Given the description of an element on the screen output the (x, y) to click on. 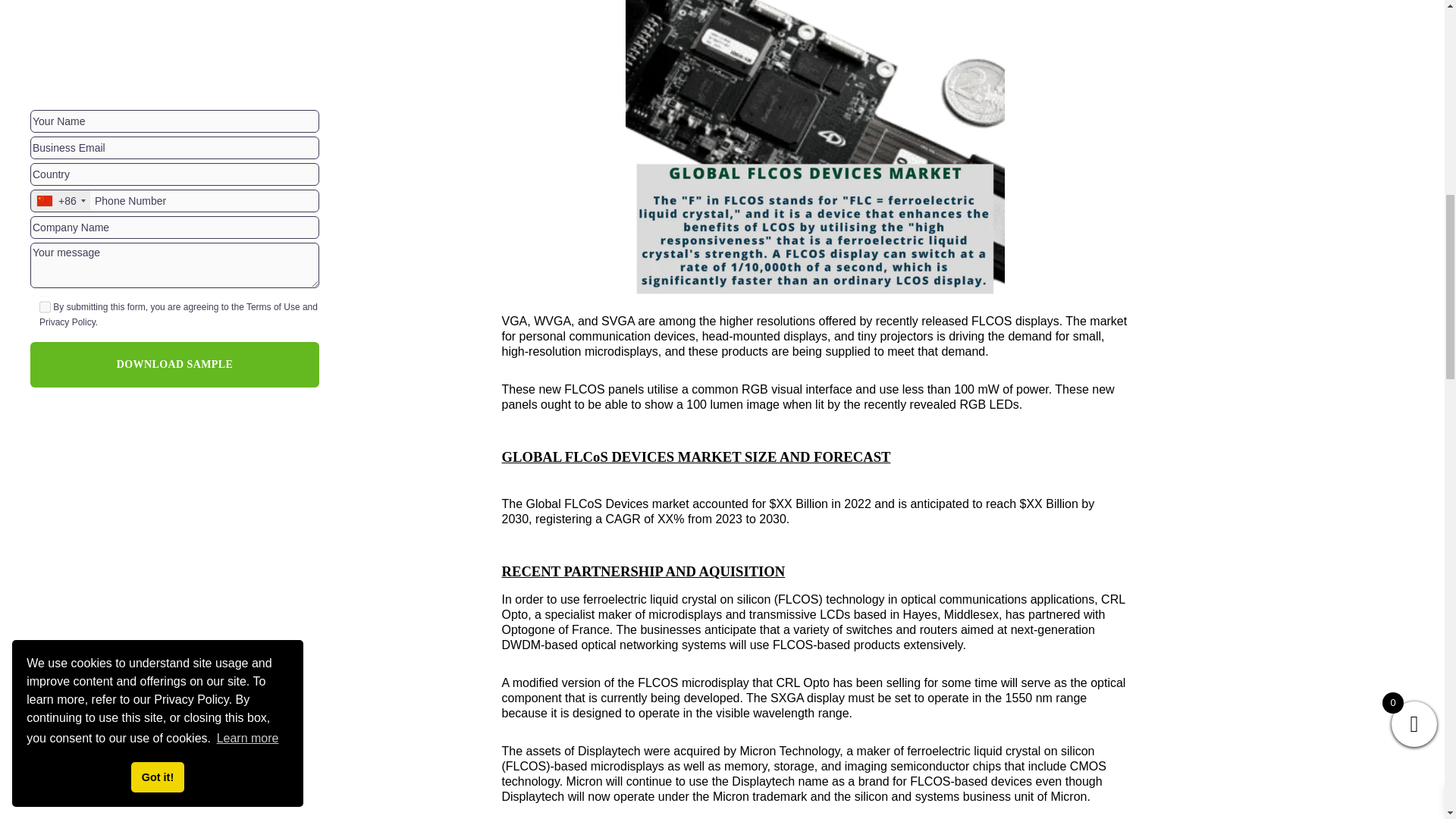
Global FLCoS Devices Market 2023-2030 1 (814, 155)
